Given the description of an element on the screen output the (x, y) to click on. 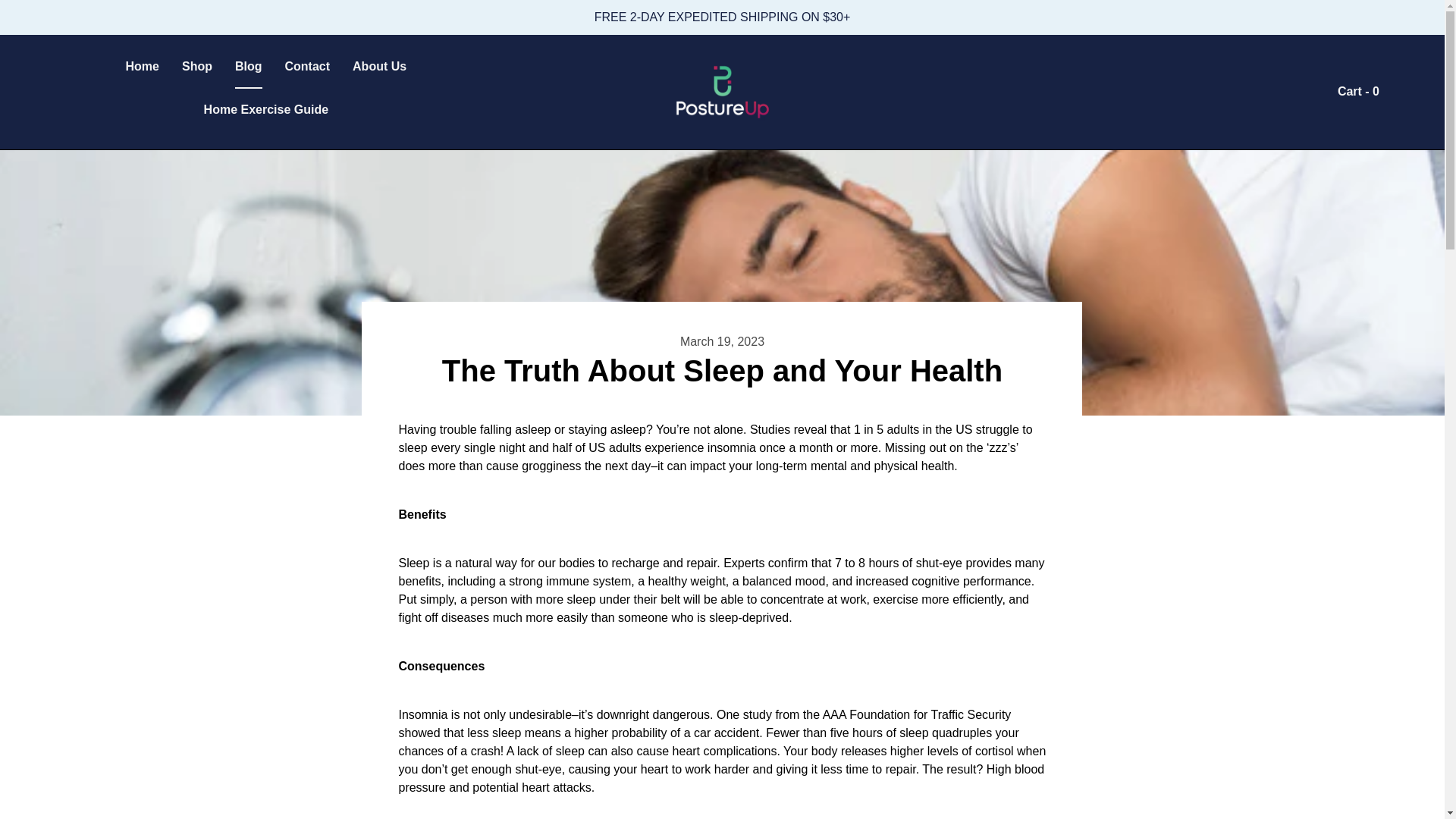
Cart - 0 (1357, 91)
Contact (307, 67)
Cart (1357, 91)
Home Exercise Guide (266, 109)
About Us (379, 67)
